Given the description of an element on the screen output the (x, y) to click on. 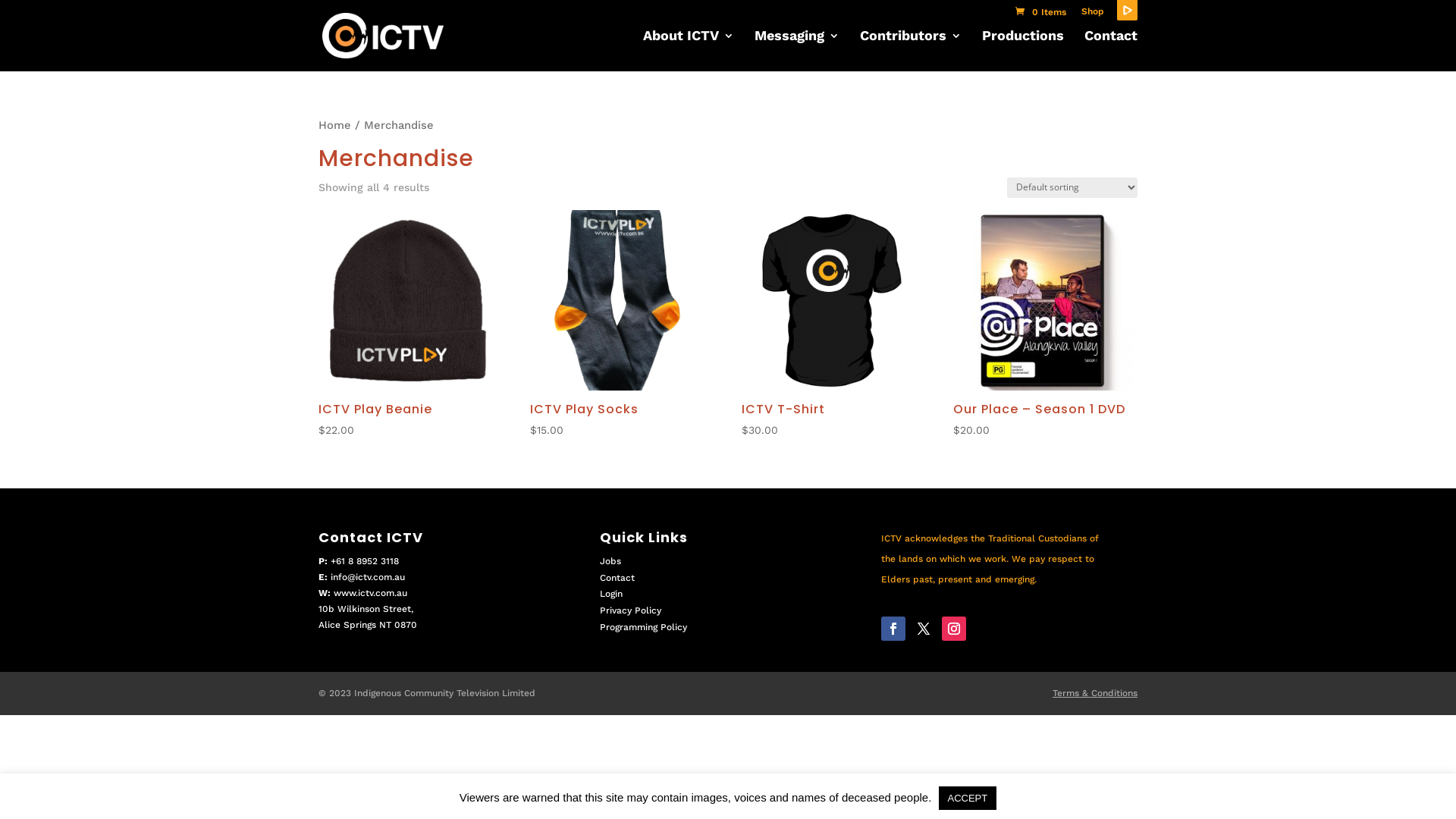
Follow on X Element type: hover (923, 628)
Messaging Element type: text (796, 50)
Follow on Instagram Element type: hover (953, 628)
Home Element type: text (334, 124)
Shop Element type: text (1092, 14)
ICTV T-Shirt
$30.00 Element type: text (831, 324)
Privacy Policy Element type: text (630, 610)
0 Items Element type: text (1040, 11)
www.ictv.com.au Element type: text (370, 592)
Play Element type: text (1127, 10)
Login Element type: text (610, 593)
Contributors Element type: text (910, 50)
Follow on Facebook Element type: hover (893, 628)
Contact Element type: text (1110, 50)
ACCEPT Element type: text (967, 797)
Programming Policy Element type: text (643, 626)
ICTV Play Beanie
$22.00 Element type: text (408, 324)
Jobs Element type: text (610, 560)
ICTV Play Socks
$15.00 Element type: text (620, 324)
Contact Element type: text (616, 577)
info@ictv.com.au Element type: text (367, 576)
Productions Element type: text (1022, 50)
About ICTV Element type: text (688, 50)
